Given the description of an element on the screen output the (x, y) to click on. 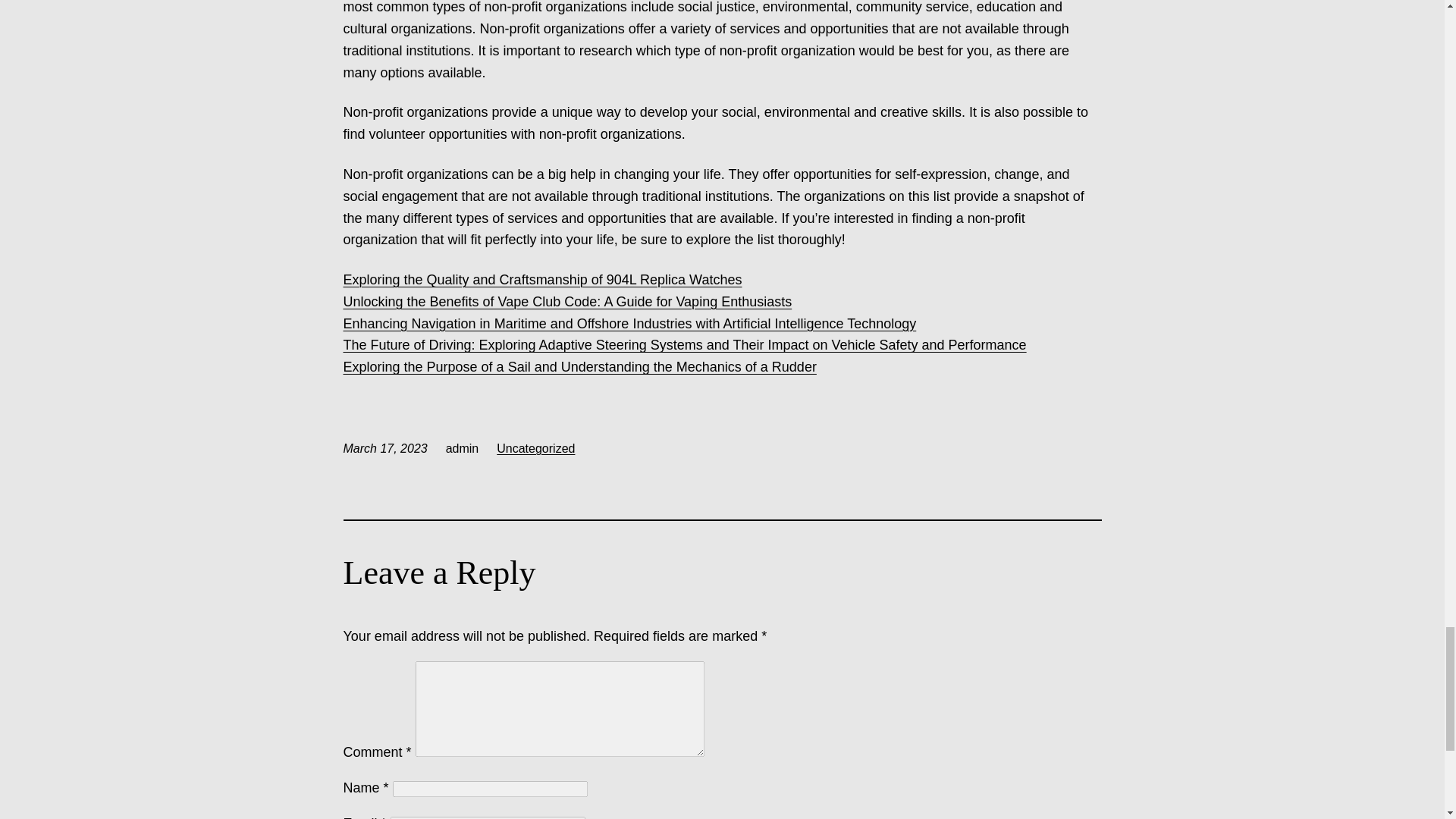
Uncategorized (535, 448)
